Given the description of an element on the screen output the (x, y) to click on. 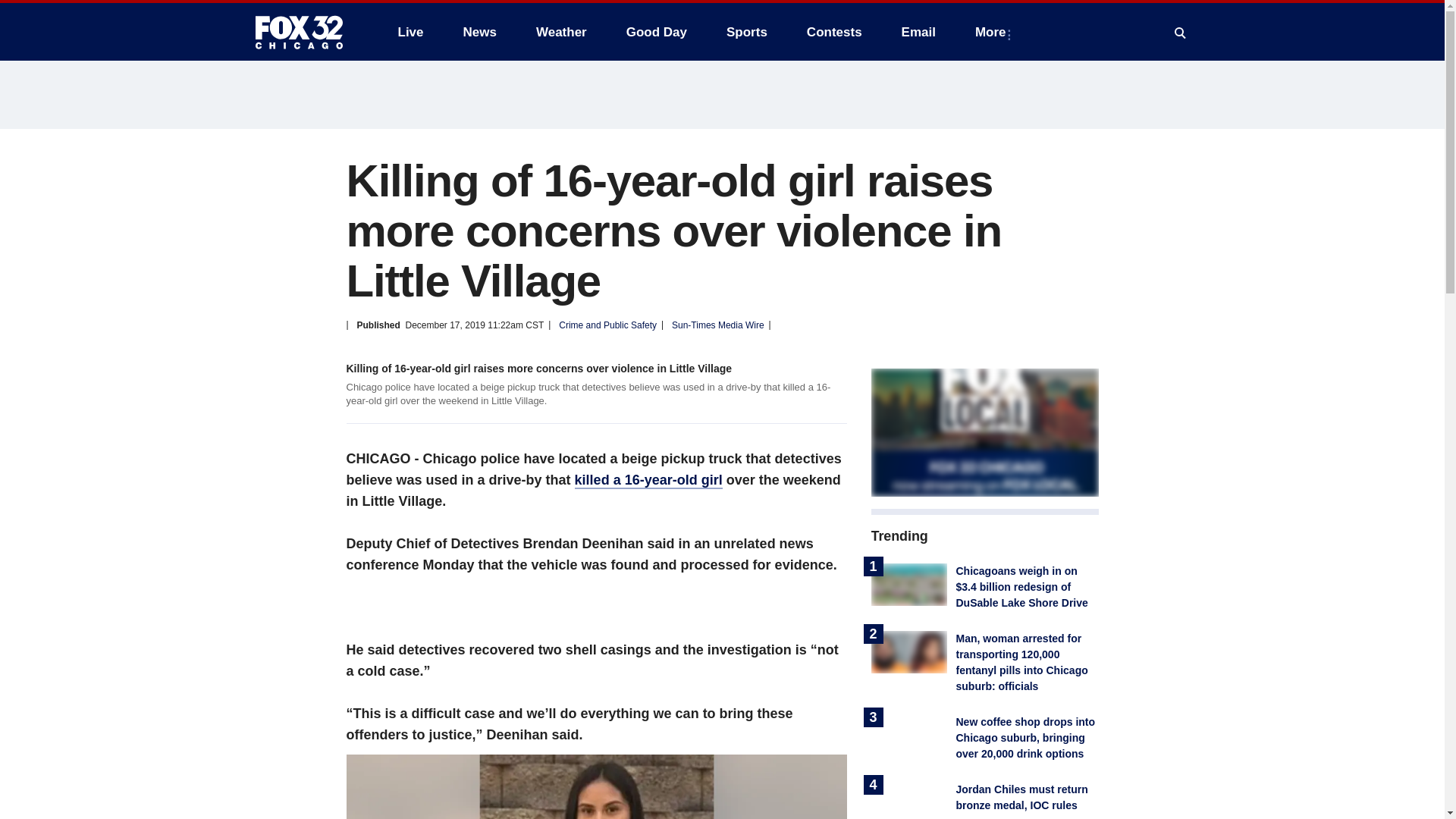
Live (410, 32)
Email (918, 32)
News (479, 32)
Sports (746, 32)
Contests (834, 32)
Good Day (656, 32)
More (993, 32)
Weather (561, 32)
